Given the description of an element on the screen output the (x, y) to click on. 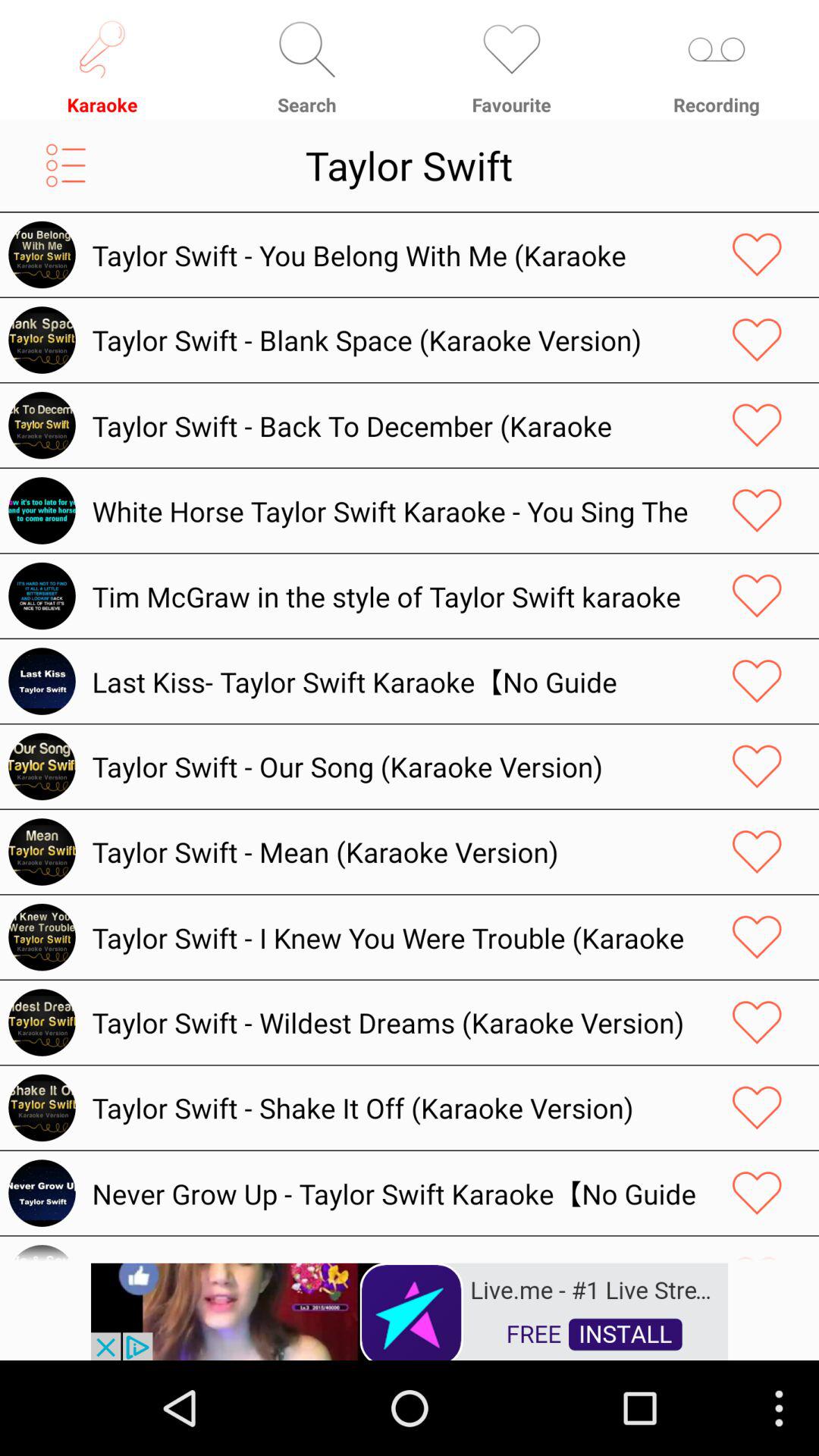
favorite it (756, 425)
